Given the description of an element on the screen output the (x, y) to click on. 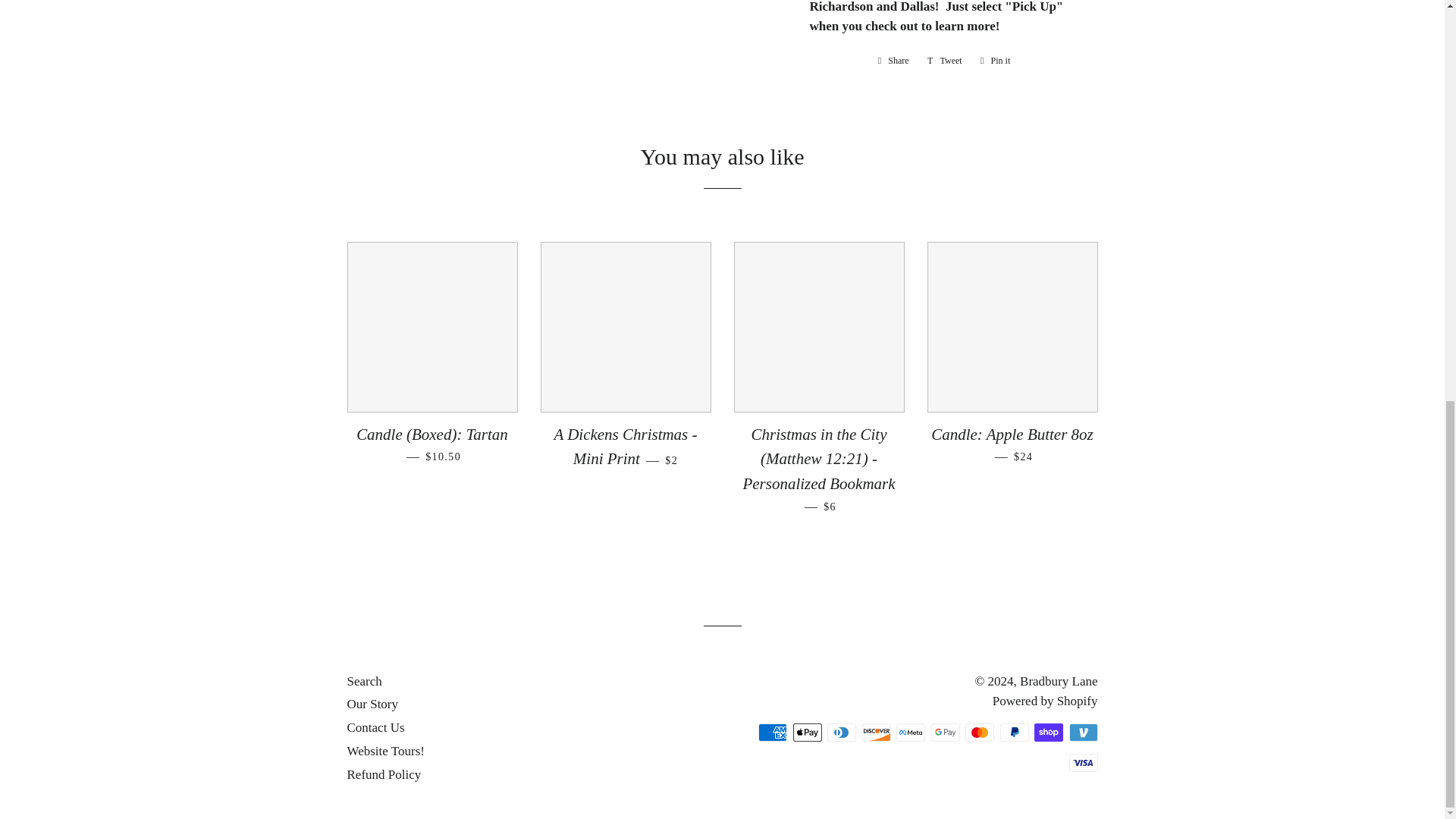
Apple Pay (807, 732)
Venmo (1082, 732)
Meta Pay (910, 732)
Visa (1082, 762)
Google Pay (945, 732)
Share on Facebook (893, 60)
Discover (875, 732)
PayPal (1012, 732)
Pin on Pinterest (994, 60)
Mastercard (979, 732)
Shop Pay (1047, 732)
Tweet on Twitter (944, 60)
American Express (772, 732)
Diners Club (841, 732)
